Given the description of an element on the screen output the (x, y) to click on. 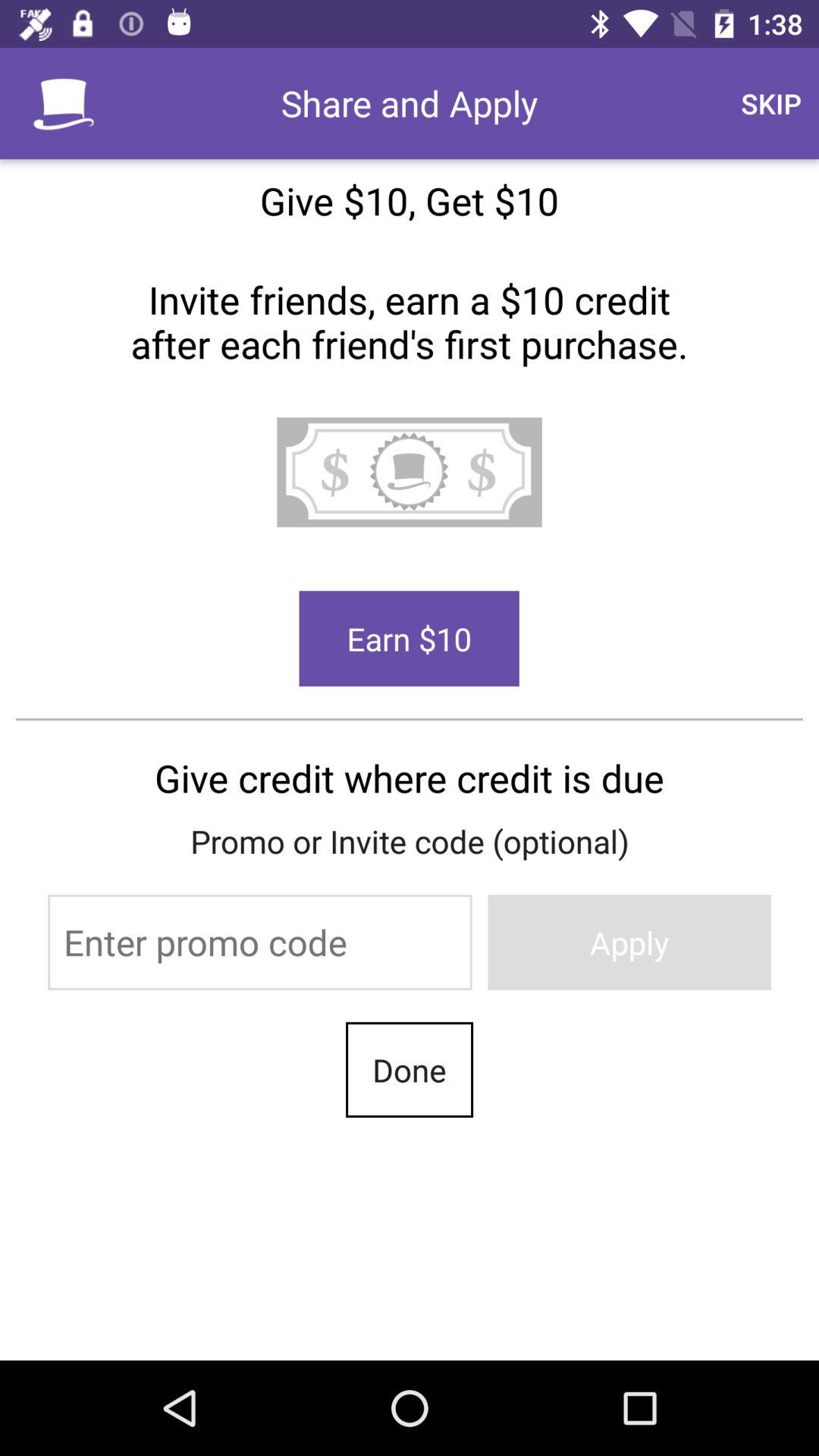
turn on the item at the top right corner (771, 103)
